Given the description of an element on the screen output the (x, y) to click on. 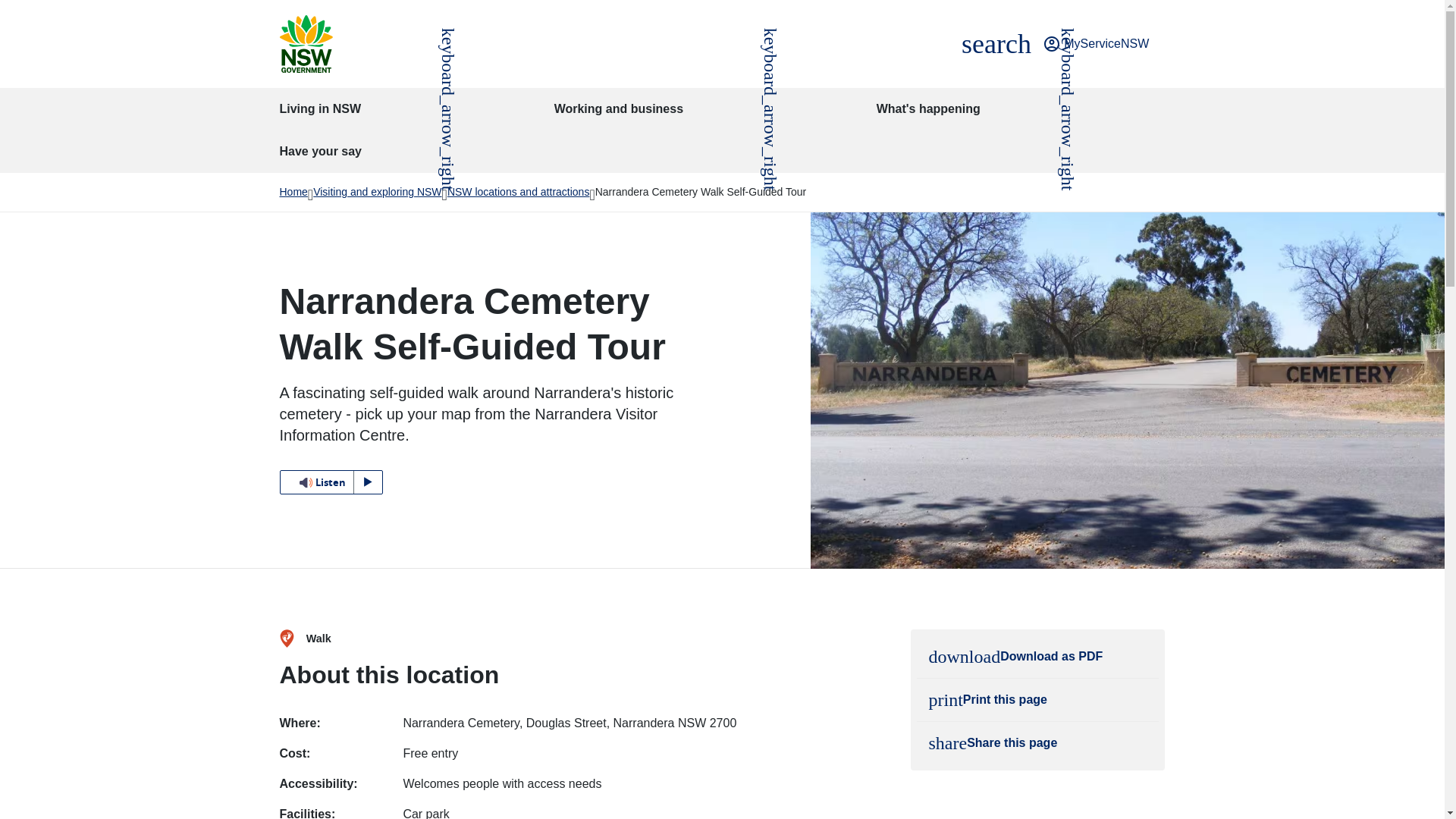
MyServiceNSW (1096, 43)
Listen to this page using ReadSpeaker webReader (330, 482)
